Given the description of an element on the screen output the (x, y) to click on. 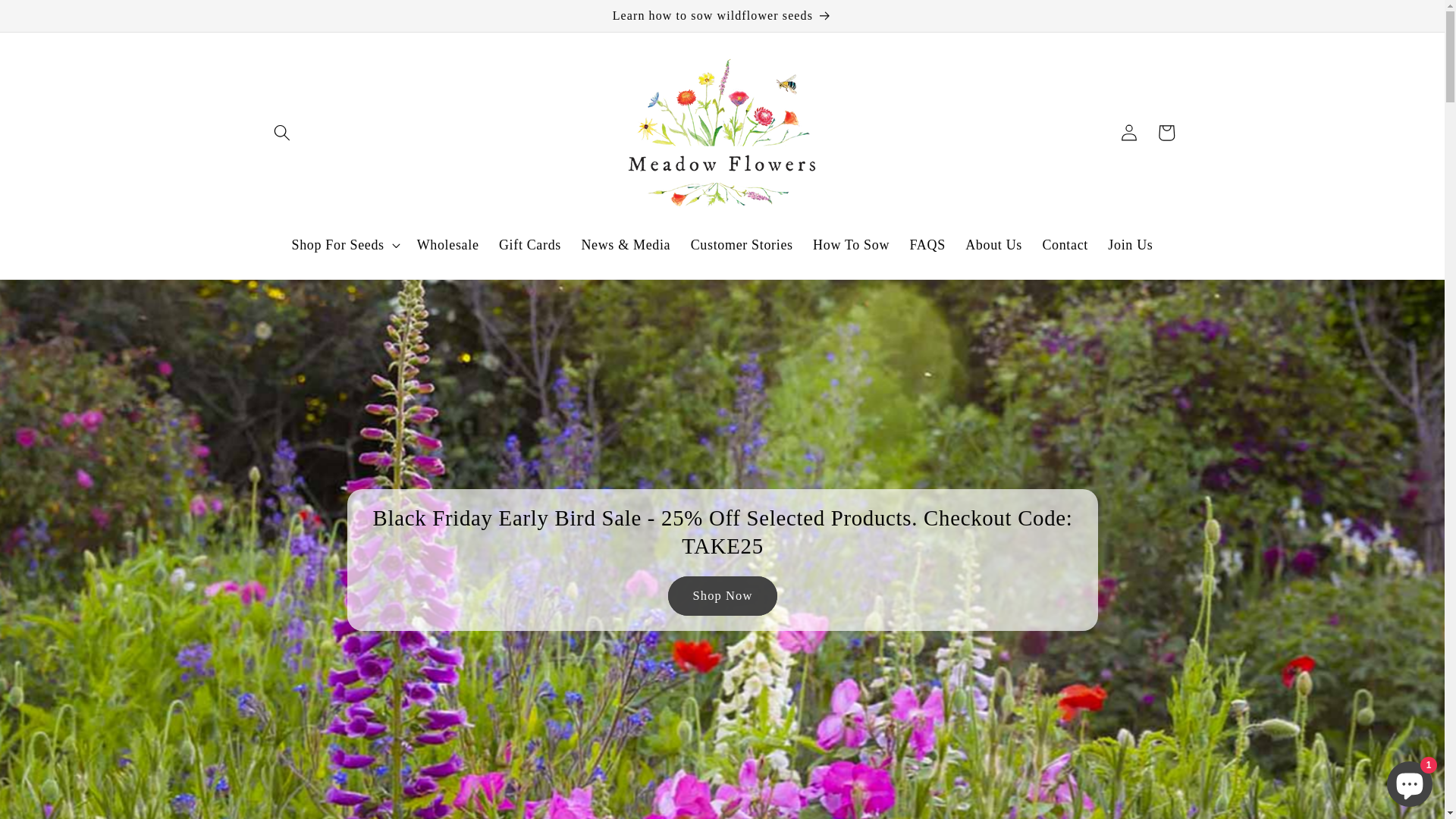
Customer Stories Element type: text (741, 244)
Cart Element type: text (1166, 132)
Gift Cards Element type: text (530, 244)
Join Us Element type: text (1130, 244)
About Us Element type: text (993, 244)
Shop Now Element type: text (722, 596)
News & Media Element type: text (625, 244)
Wholesale Element type: text (447, 244)
FAQS Element type: text (927, 244)
Learn how to sow wildflower seeds Element type: text (722, 15)
Log in Element type: text (1128, 132)
How To Sow Element type: text (851, 244)
Shopify online store chat Element type: hover (1409, 780)
Contact Element type: text (1065, 244)
